Given the description of an element on the screen output the (x, y) to click on. 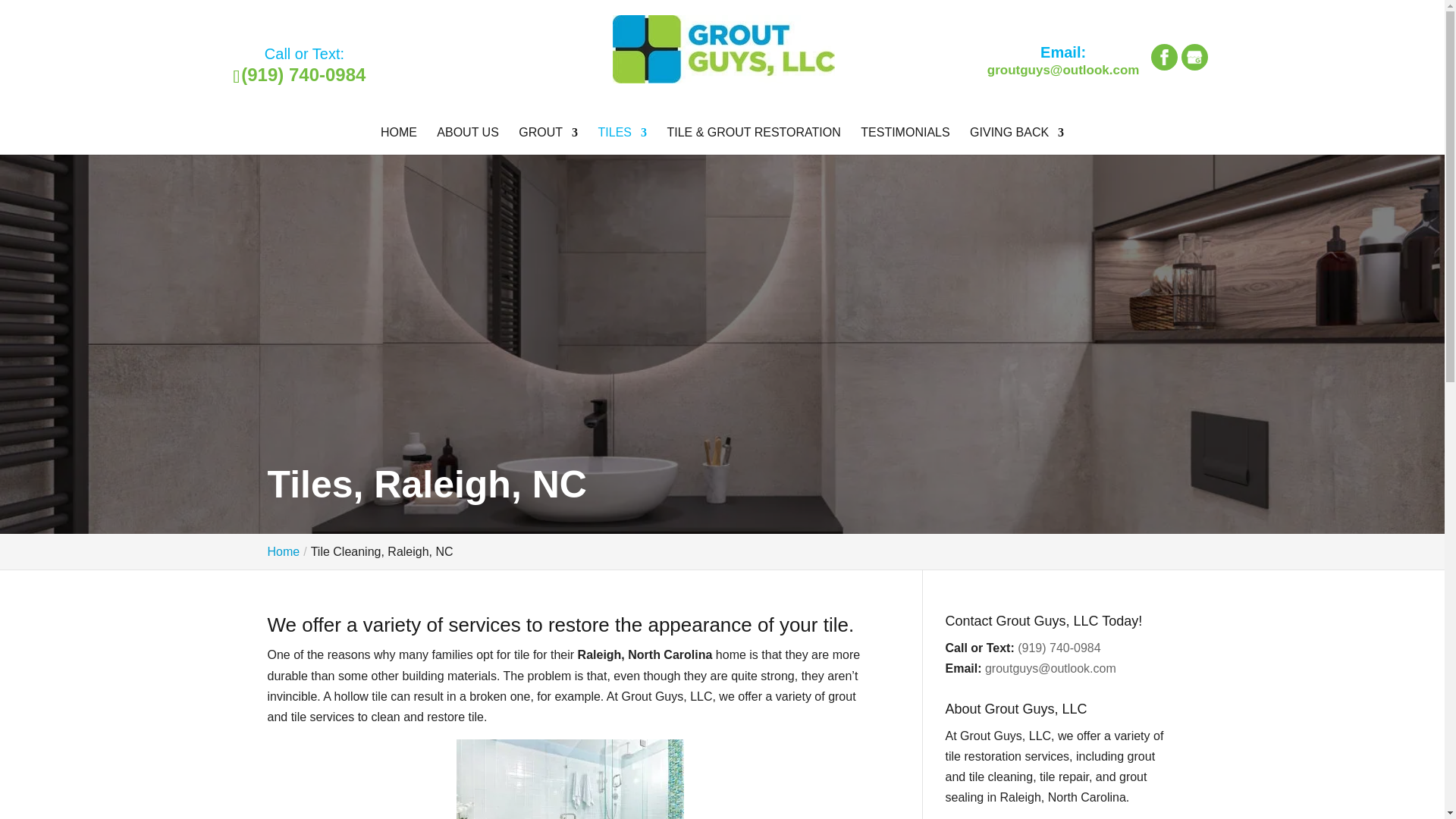
TILES (622, 140)
TESTIMONIALS (904, 140)
GIVING BACK (1016, 140)
ABOUT US (467, 140)
HOME (398, 140)
Home (282, 551)
GROUT (548, 140)
